Given the description of an element on the screen output the (x, y) to click on. 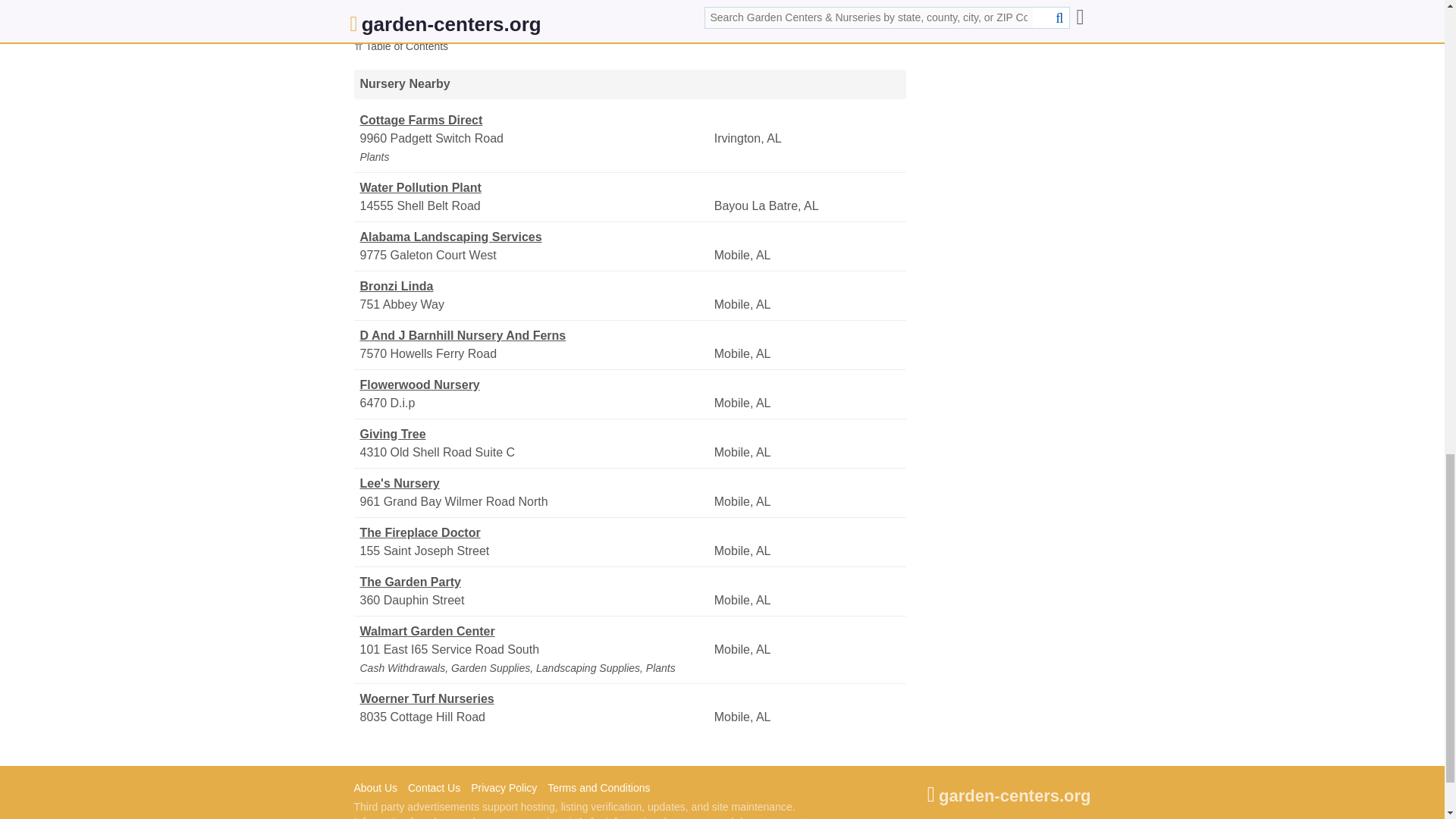
Walmart Garden Center (534, 631)
Alabama Landscaping Services (534, 237)
Cottage Farms Direct (534, 120)
Bronzi Linda in Mobile, Alabama (534, 286)
Woerner Turf Nurseries (534, 699)
D And J Barnhill Nursery And Ferns in Mobile, Alabama (534, 335)
The Fireplace Doctor (534, 533)
Lee's Nursery (534, 484)
Alabama Landscaping Services in Mobile, Alabama (534, 237)
Giving Tree (534, 434)
Bronzi Linda (534, 286)
Water Pollution Plant in Bayou La Batre, Alabama (534, 188)
The Garden Party (534, 582)
Water Pollution Plant (534, 188)
Flowerwood Nursery (534, 384)
